Given the description of an element on the screen output the (x, y) to click on. 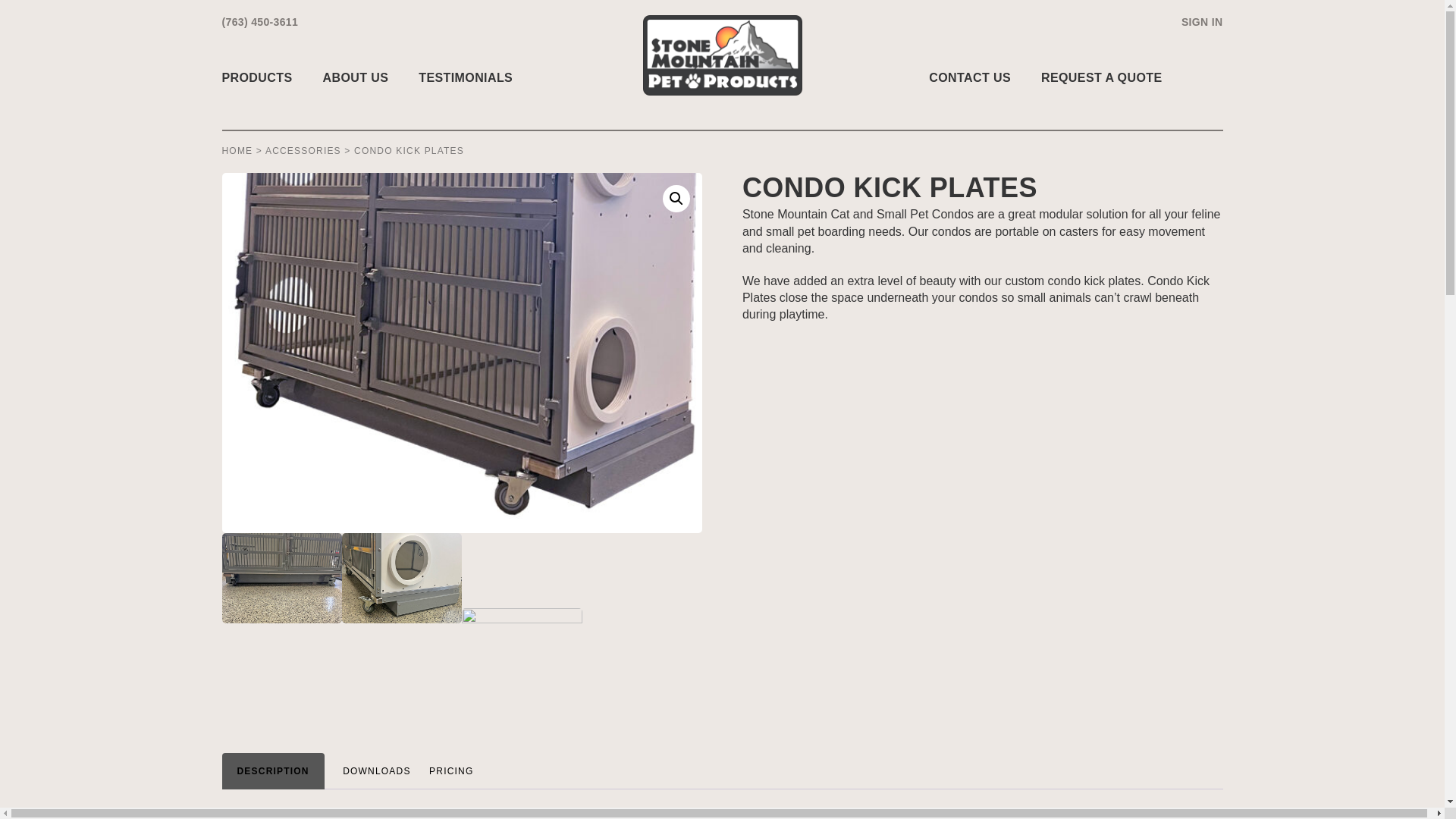
My Account (1201, 22)
Search (1199, 77)
REQUEST A QUOTE (1101, 77)
Cat-Condo-with-Kick-Plates-1000x750 (520, 653)
SIGN IN (1201, 22)
ACCESSORIES (302, 150)
CONTACT US (969, 77)
PRICING (451, 771)
TESTIMONIALS (465, 77)
ABOUT US (354, 77)
HOME (236, 150)
DESCRIPTION (271, 771)
Condo-Kick-Plates-Side-1000x750 (401, 578)
